Given the description of an element on the screen output the (x, y) to click on. 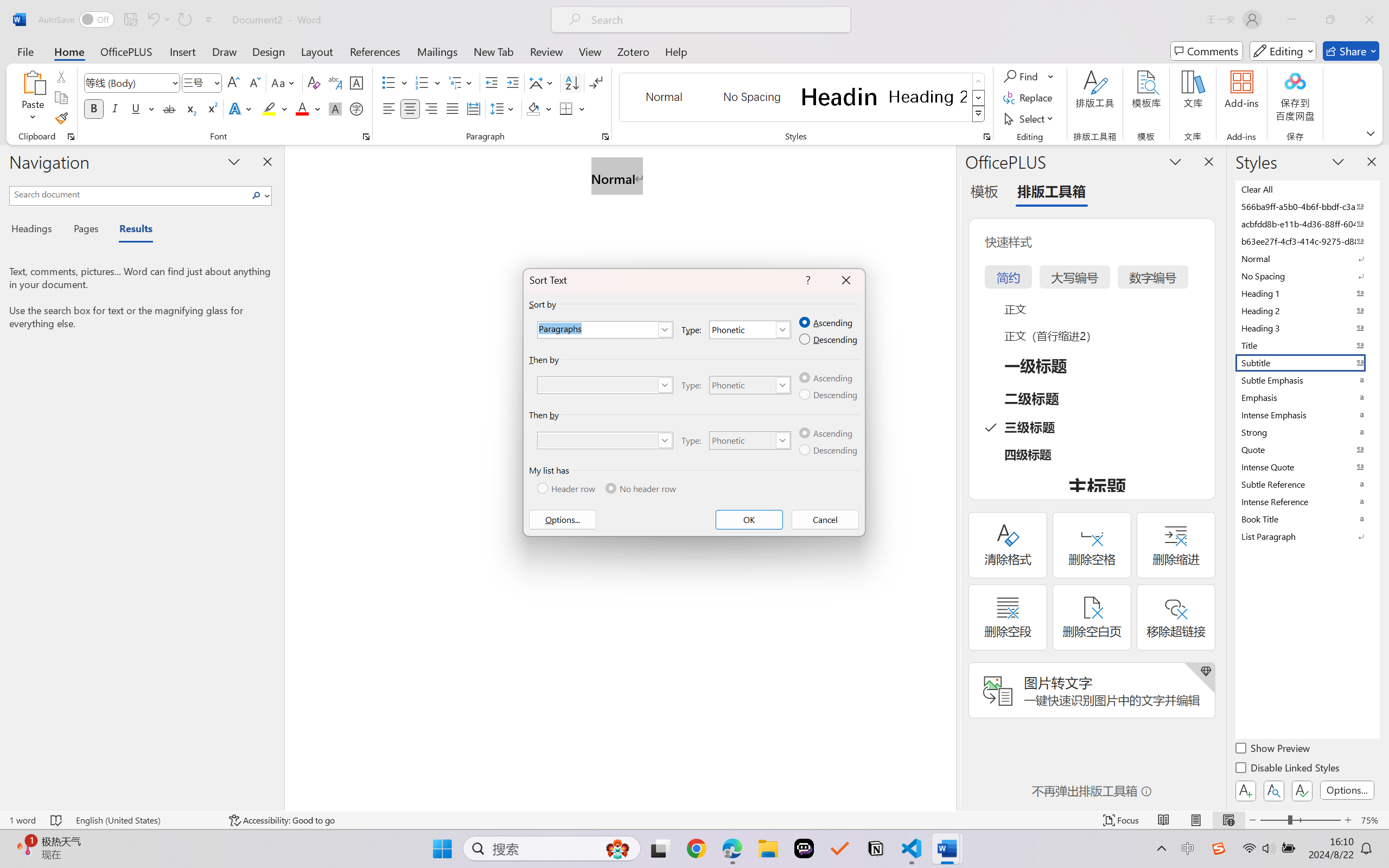
Copy (60, 97)
OK (749, 519)
Repeat Doc Close (184, 19)
Ribbon Display Options (1370, 132)
Quick Access Toolbar (127, 19)
Replace... (1029, 97)
Character Border (356, 82)
